Given the description of an element on the screen output the (x, y) to click on. 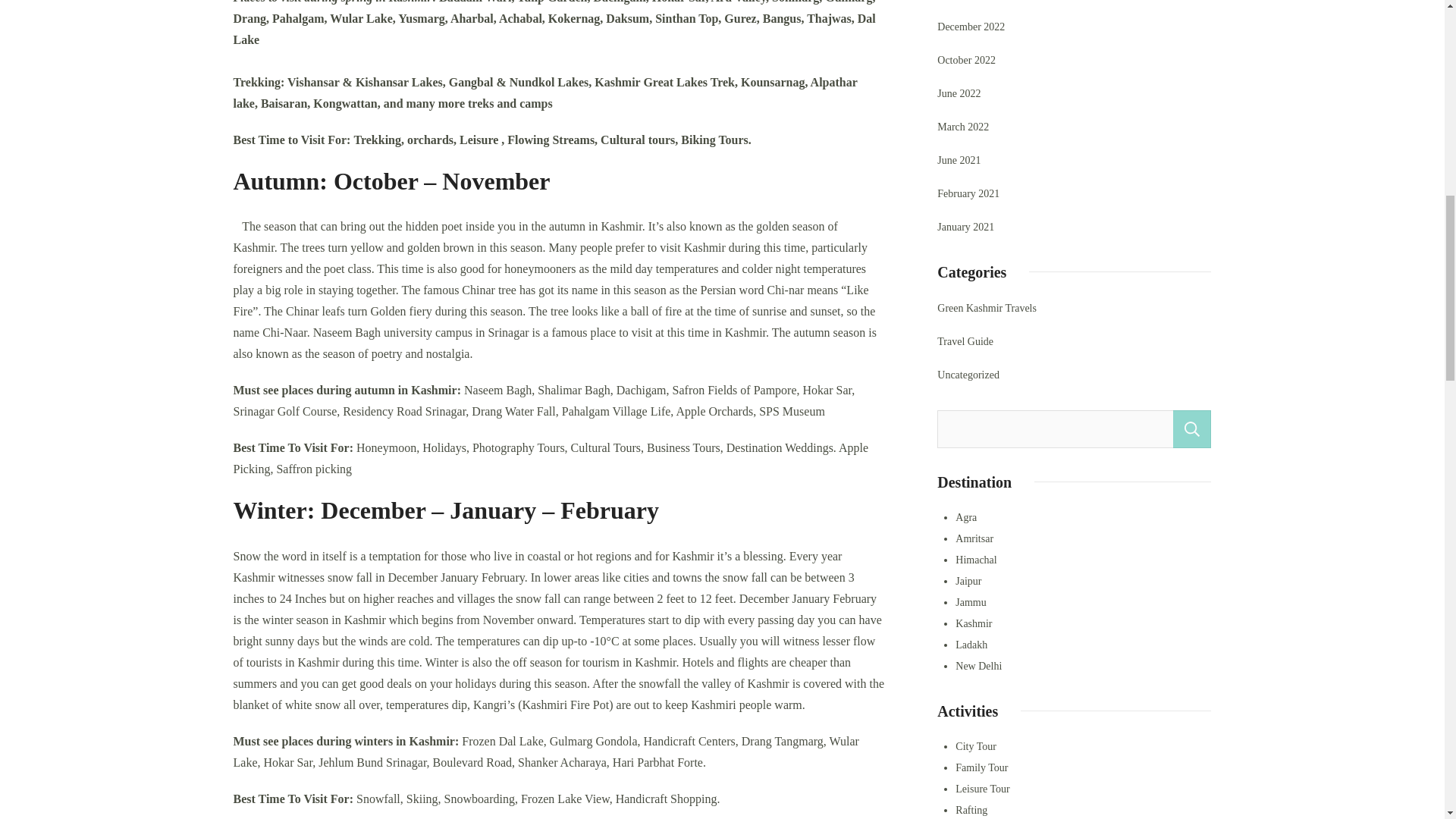
June 2021 (958, 160)
October 2022 (966, 60)
February 2021 (967, 193)
March 2022 (962, 127)
June 2022 (958, 93)
June 2023 (958, 2)
December 2022 (970, 26)
